Given the description of an element on the screen output the (x, y) to click on. 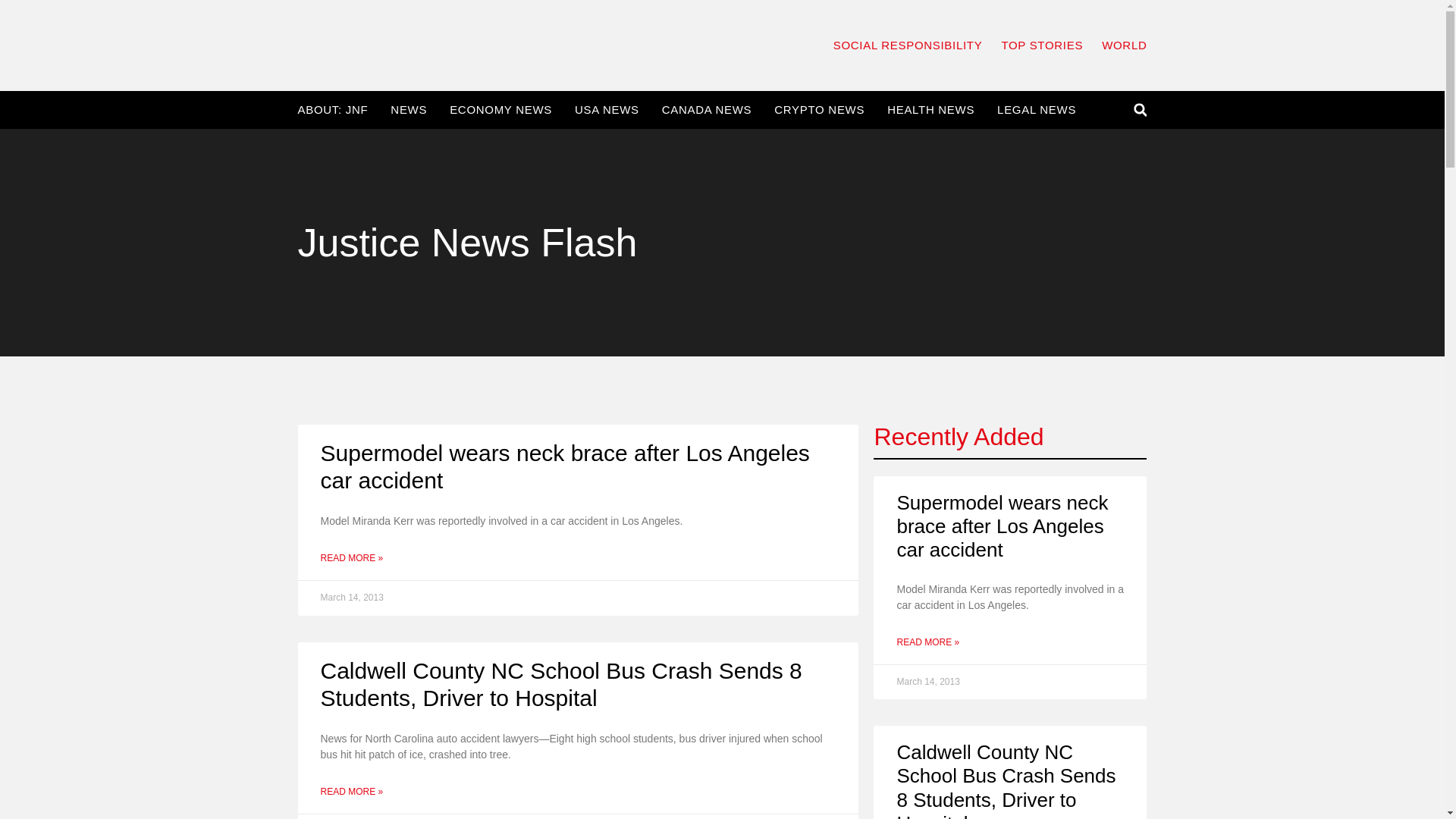
ABOUT: JNF (332, 109)
CRYPTO NEWS (819, 109)
NEWS (407, 109)
Supermodel wears neck brace after Los Angeles car accident (564, 466)
ECONOMY NEWS (500, 109)
LEGAL NEWS (1036, 109)
CANADA NEWS (706, 109)
USA NEWS (606, 109)
Justice News Flash (467, 242)
